Given the description of an element on the screen output the (x, y) to click on. 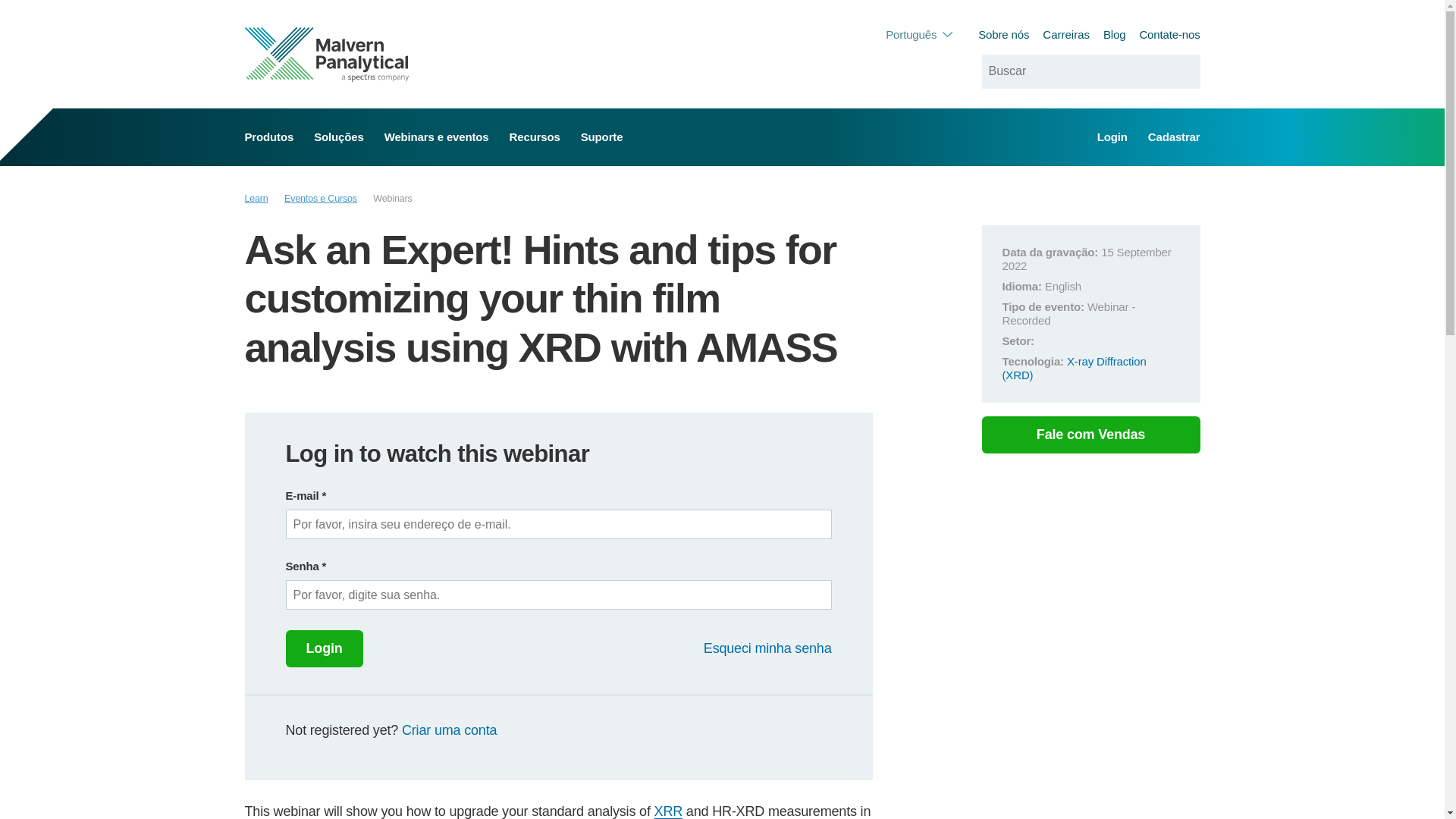
Criar uma conta (448, 729)
XRR (667, 811)
Eventos e Cursos (319, 198)
Login (323, 648)
Blog (1114, 33)
Esqueci minha senha (767, 648)
Suporte (601, 136)
Recursos (534, 136)
Learn (255, 198)
Cadastrar (1173, 136)
